Given the description of an element on the screen output the (x, y) to click on. 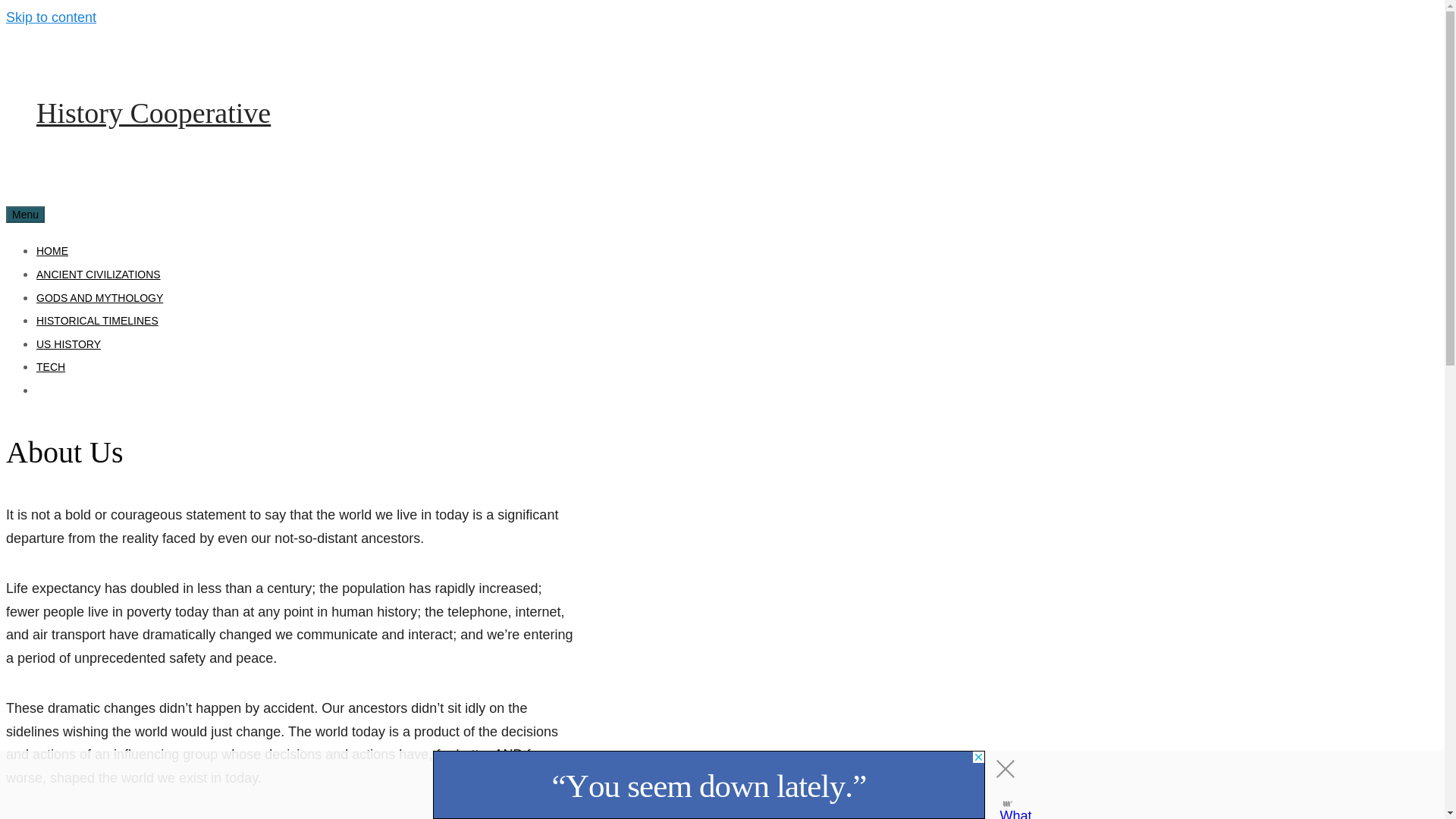
US HISTORY (68, 344)
3rd party ad content (708, 785)
HOME (52, 250)
Skip to content (50, 17)
HISTORICAL TIMELINES (97, 320)
Menu (25, 214)
History Cooperative (153, 112)
TECH (50, 367)
Skip to content (50, 17)
ANCIENT CIVILIZATIONS (98, 274)
GODS AND MYTHOLOGY (99, 297)
